Given the description of an element on the screen output the (x, y) to click on. 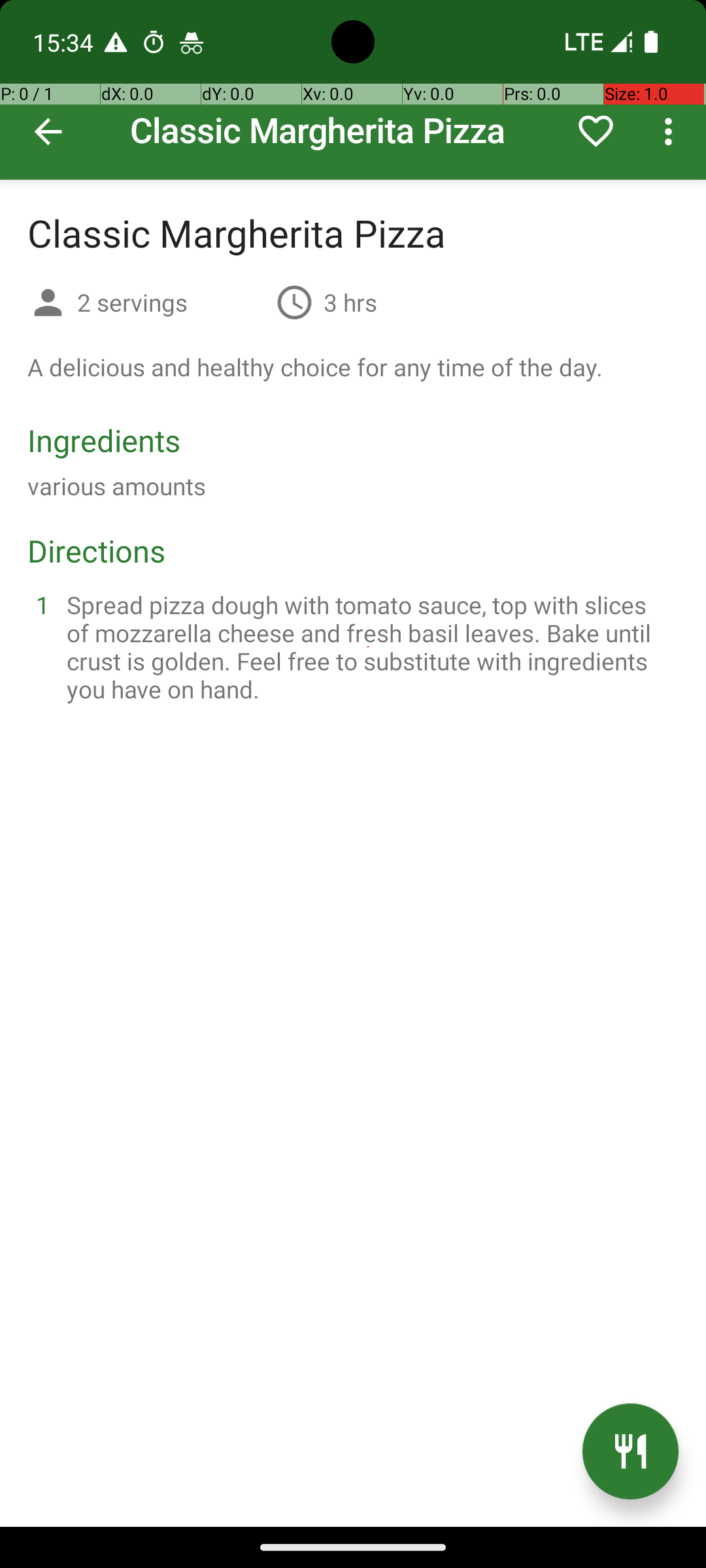
Spread pizza dough with tomato sauce, top with slices of mozzarella cheese and fresh basil leaves. Bake until crust is golden. Feel free to substitute with ingredients you have on hand. Element type: android.widget.TextView (368, 646)
